Given the description of an element on the screen output the (x, y) to click on. 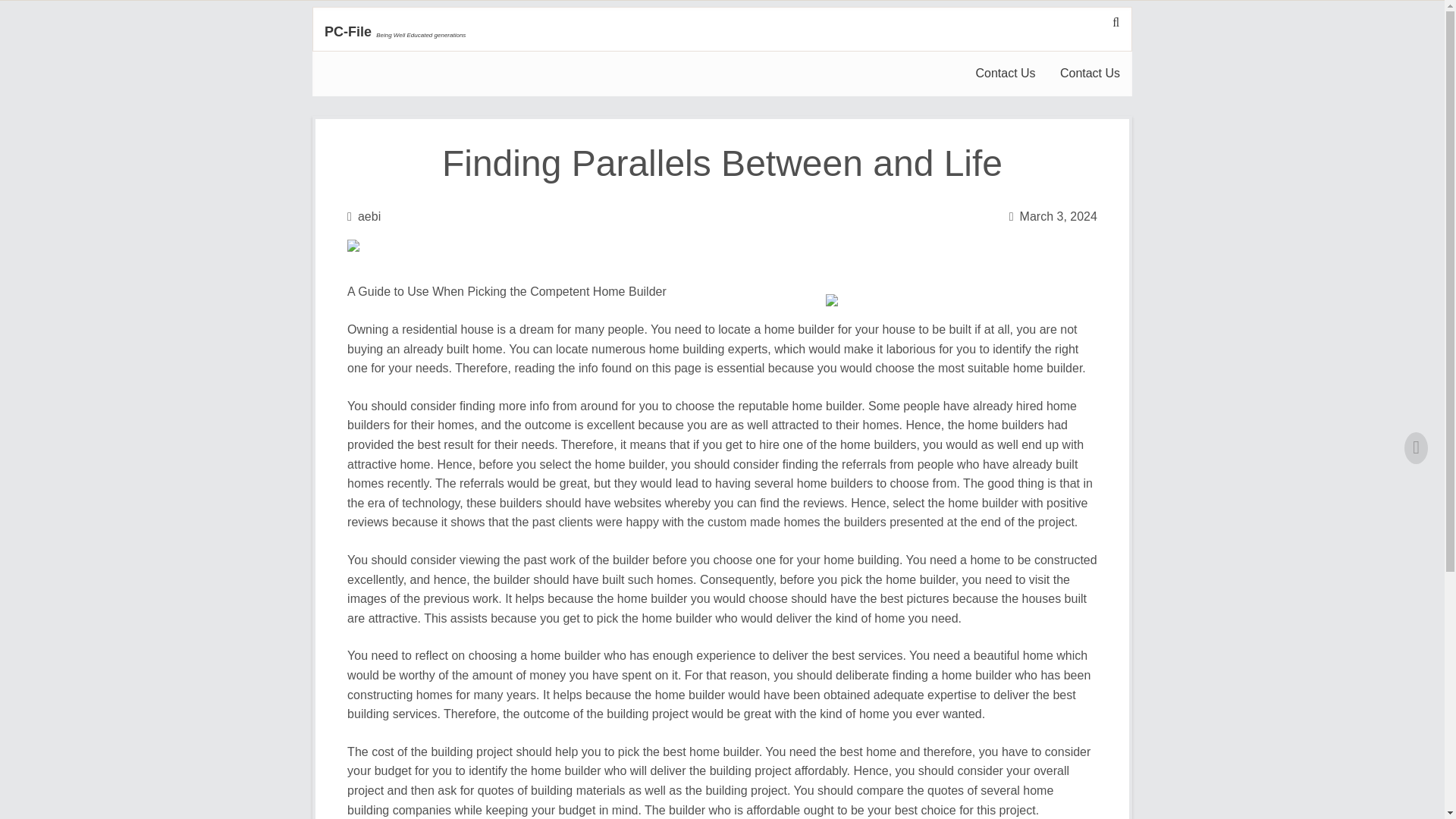
Contact Us (1004, 73)
PC-File (347, 32)
Contact Us (1090, 73)
